Given the description of an element on the screen output the (x, y) to click on. 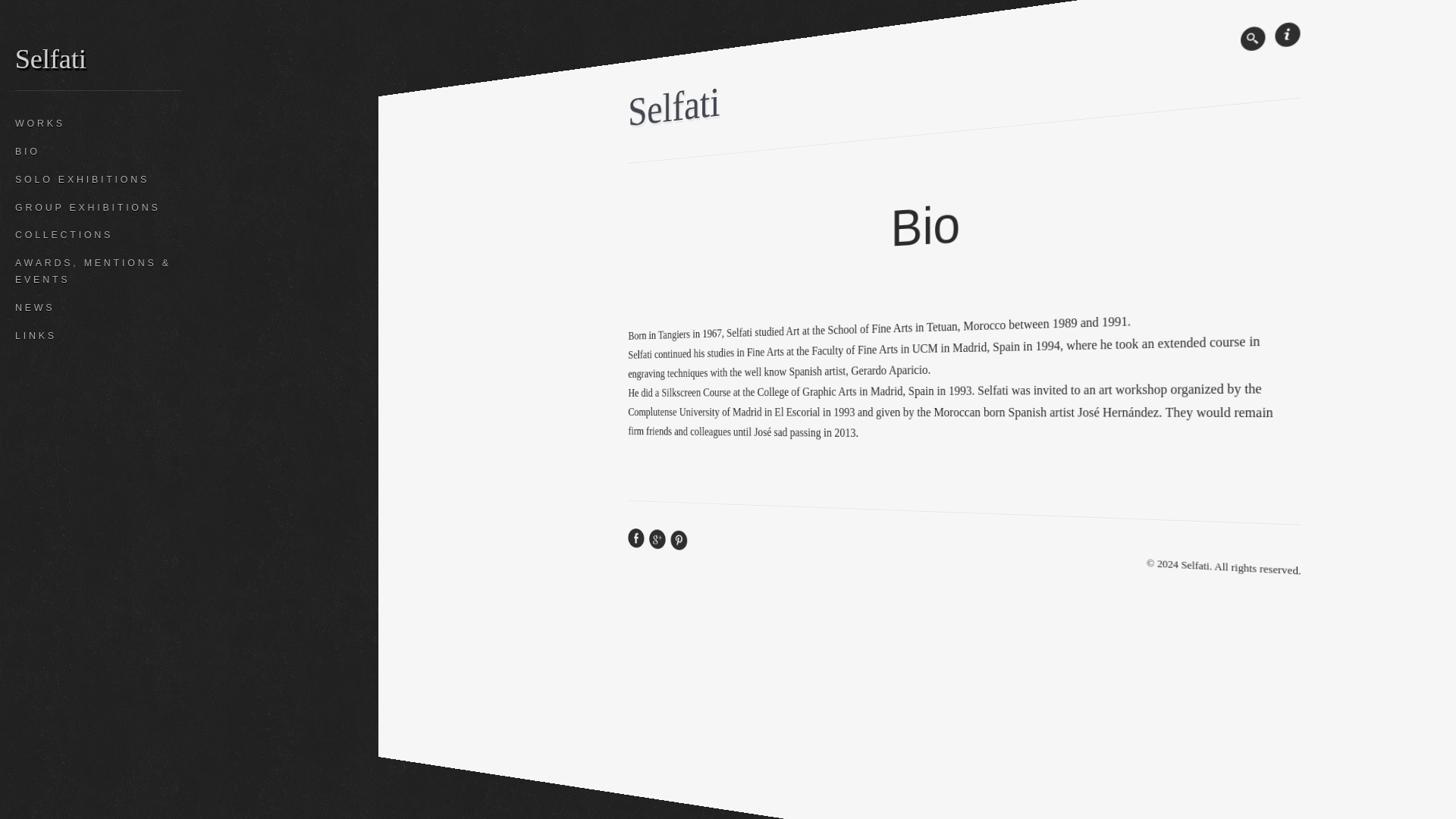
BIO (98, 152)
Selfati (686, 102)
SOLO EXHIBITIONS (98, 180)
NEWS (98, 308)
WORKS (98, 123)
COLLECTIONS (98, 235)
Selfati (49, 55)
GROUP EXHIBITIONS (98, 207)
LINKS (98, 336)
